Given the description of an element on the screen output the (x, y) to click on. 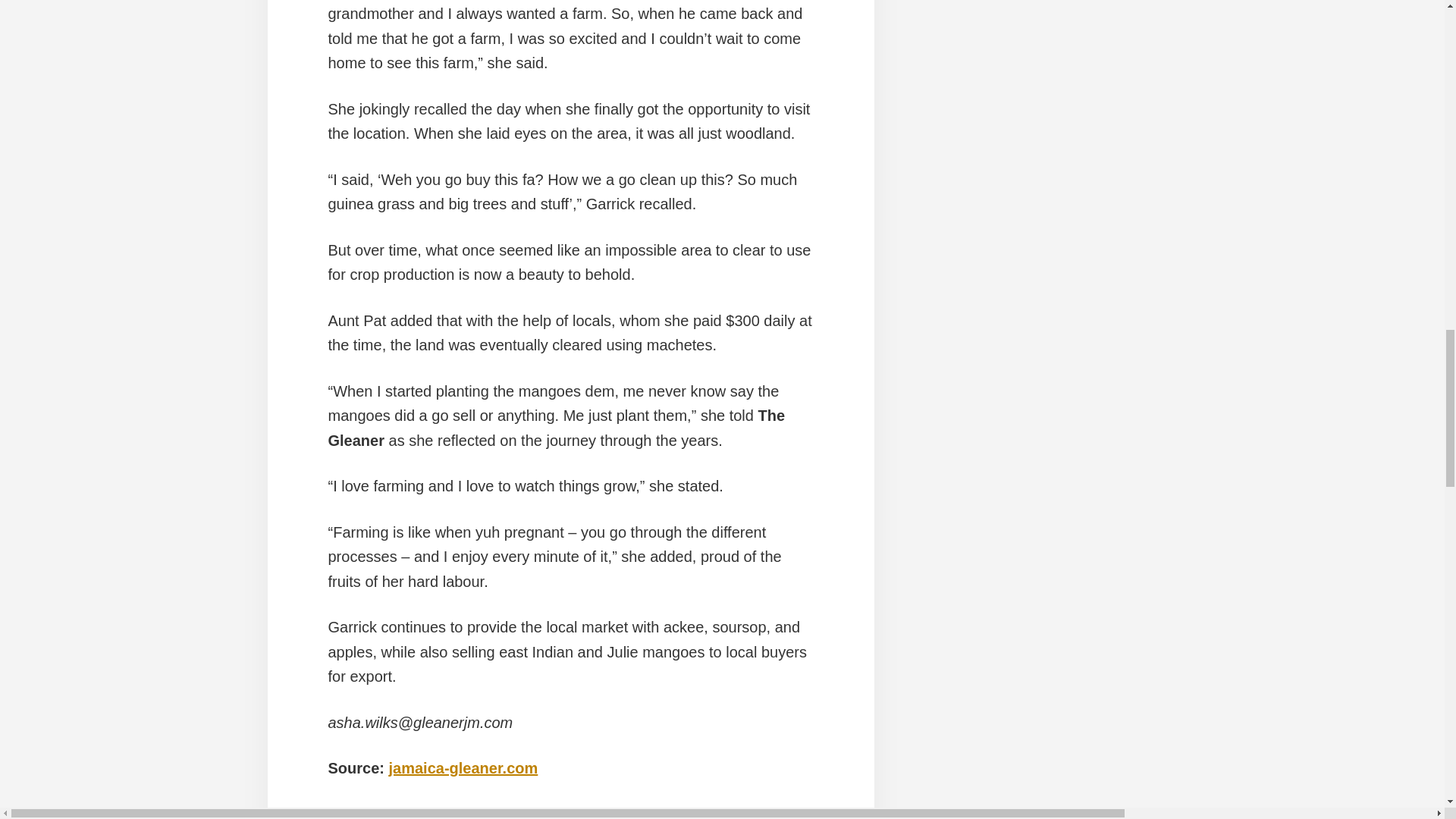
jamaica-gleaner.com (463, 768)
